Given the description of an element on the screen output the (x, y) to click on. 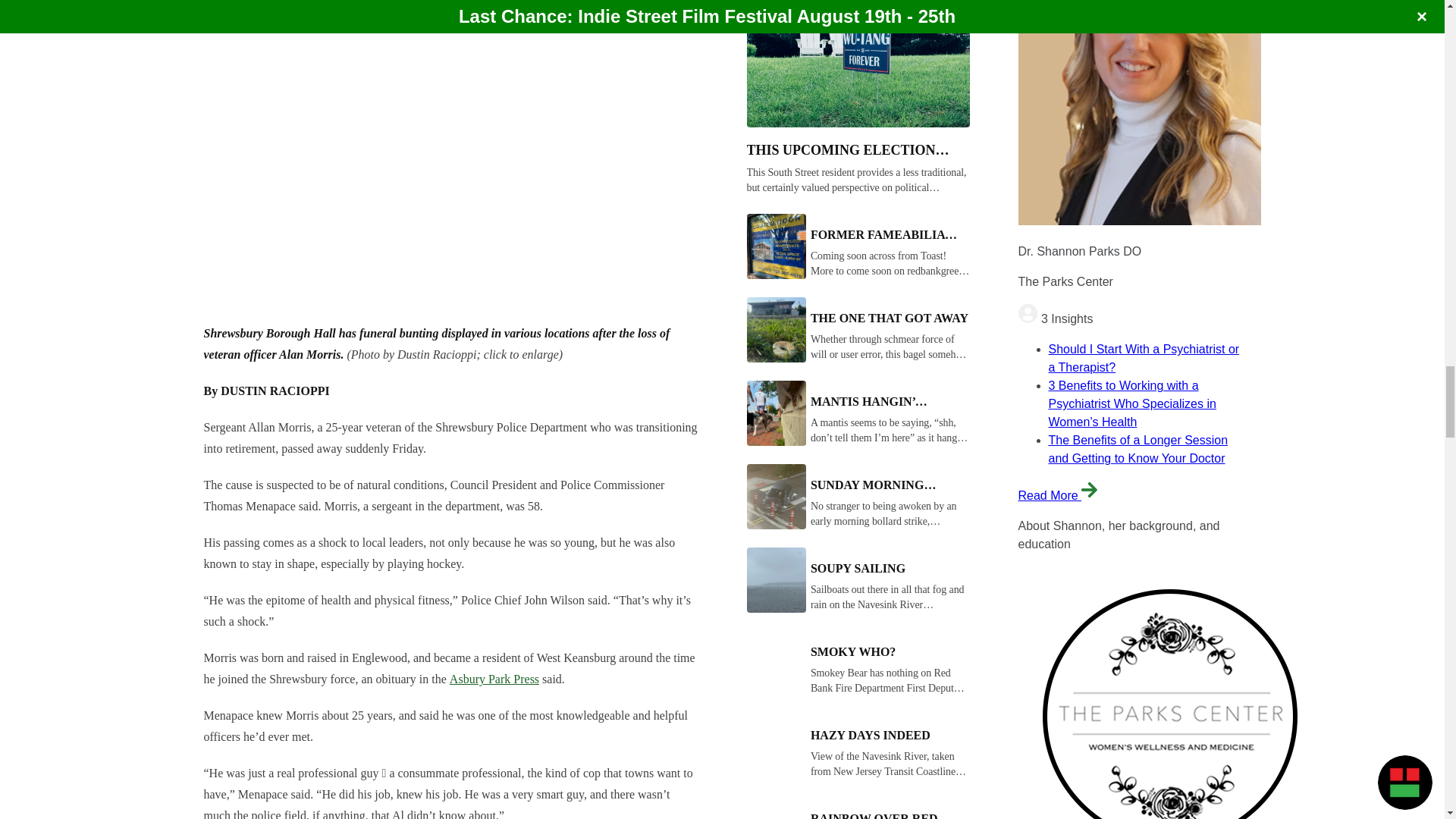
sbury-crepe (392, 156)
Asbury Park Press (493, 678)
